Given the description of an element on the screen output the (x, y) to click on. 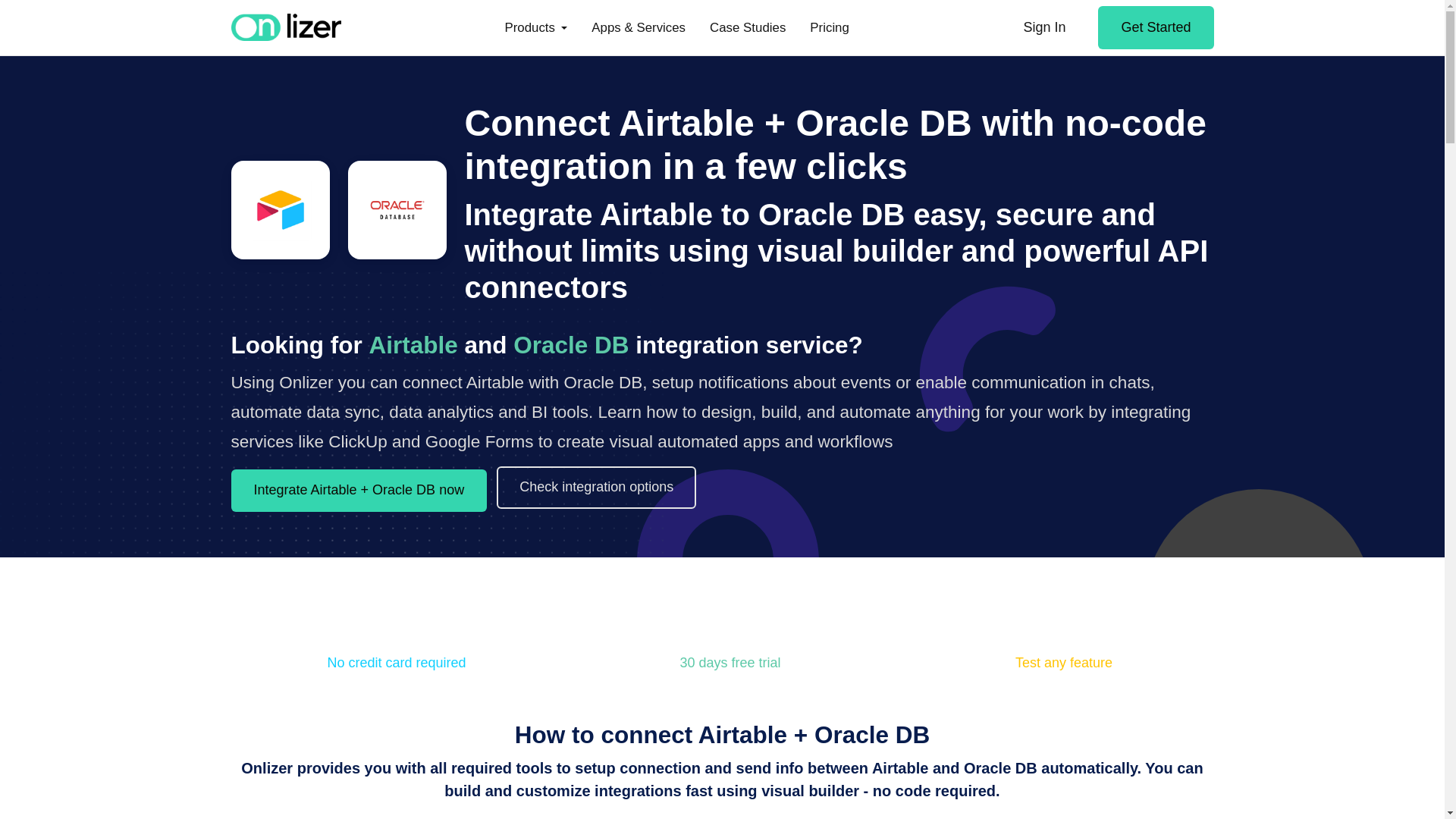
Check integration options (595, 487)
Products (535, 27)
Get Started (1154, 26)
Pricing (829, 27)
Case Studies (747, 27)
Sign In (1043, 26)
